Given the description of an element on the screen output the (x, y) to click on. 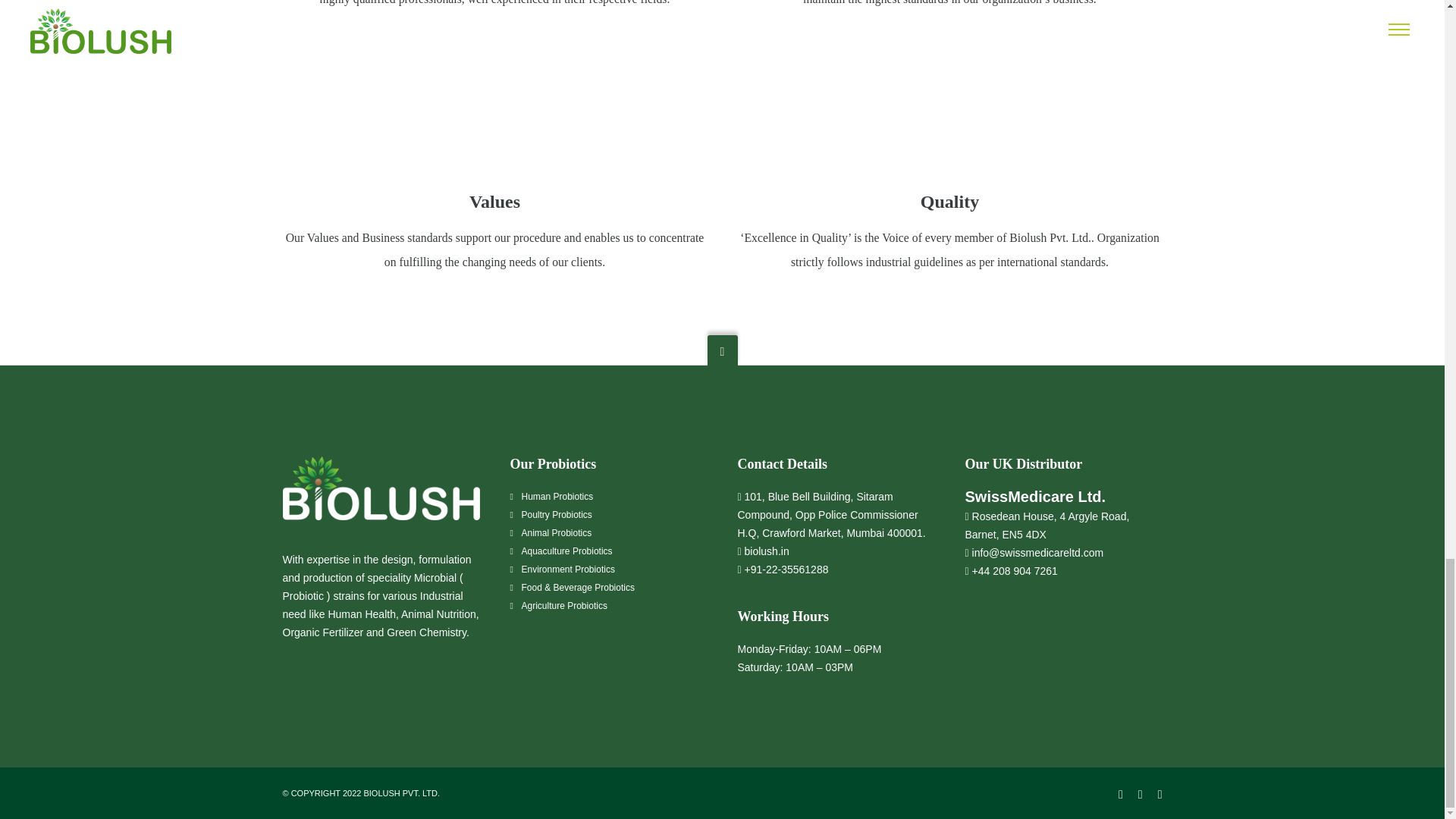
Aquaculture Probiotics (566, 551)
Agriculture Probiotics (564, 605)
Human Probiotics (557, 496)
Poultry Probiotics (556, 514)
Animal Probiotics (556, 532)
Environment Probiotics (567, 569)
